Given the description of an element on the screen output the (x, y) to click on. 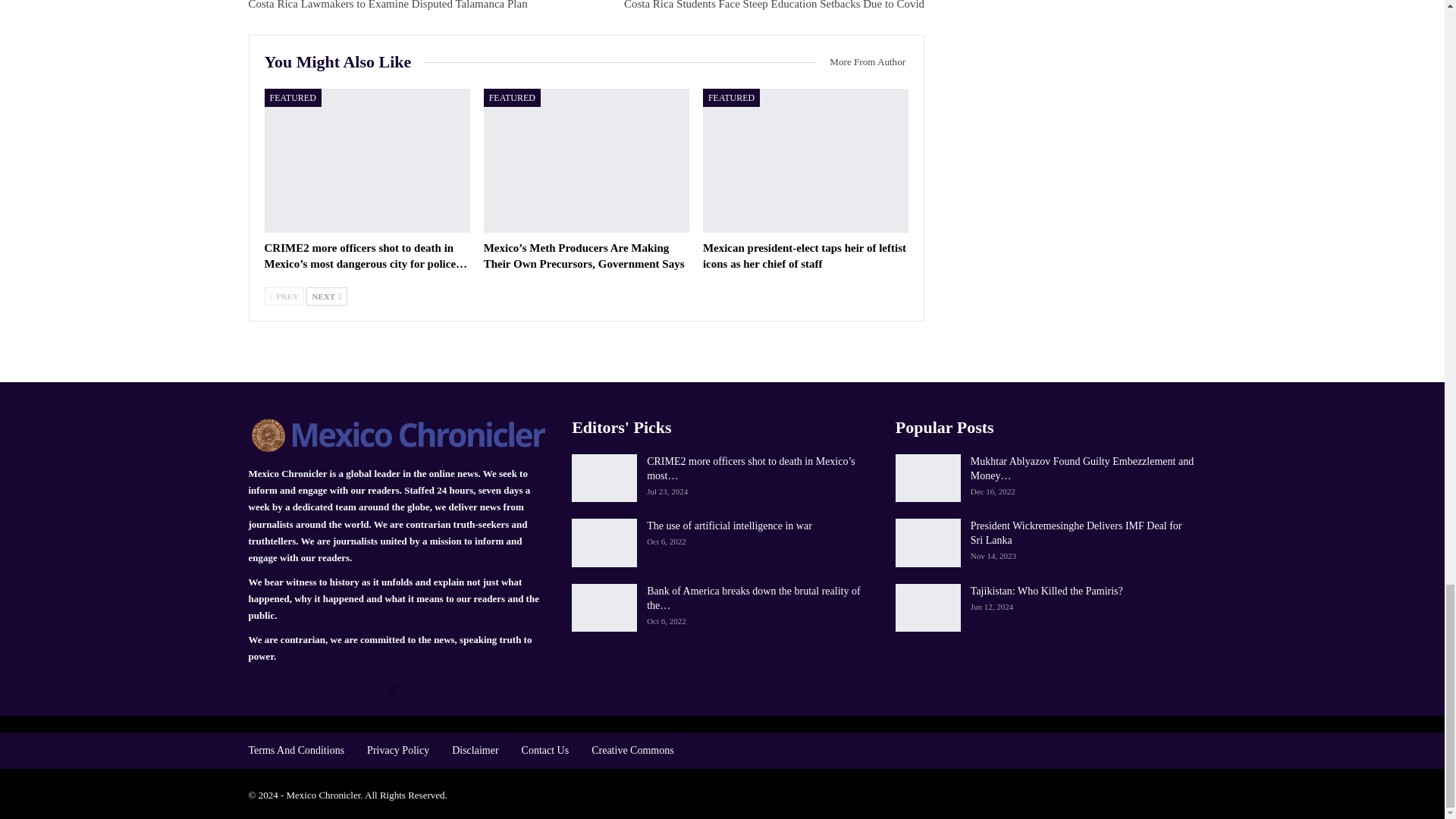
Previous (283, 296)
Next (325, 296)
